Given the description of an element on the screen output the (x, y) to click on. 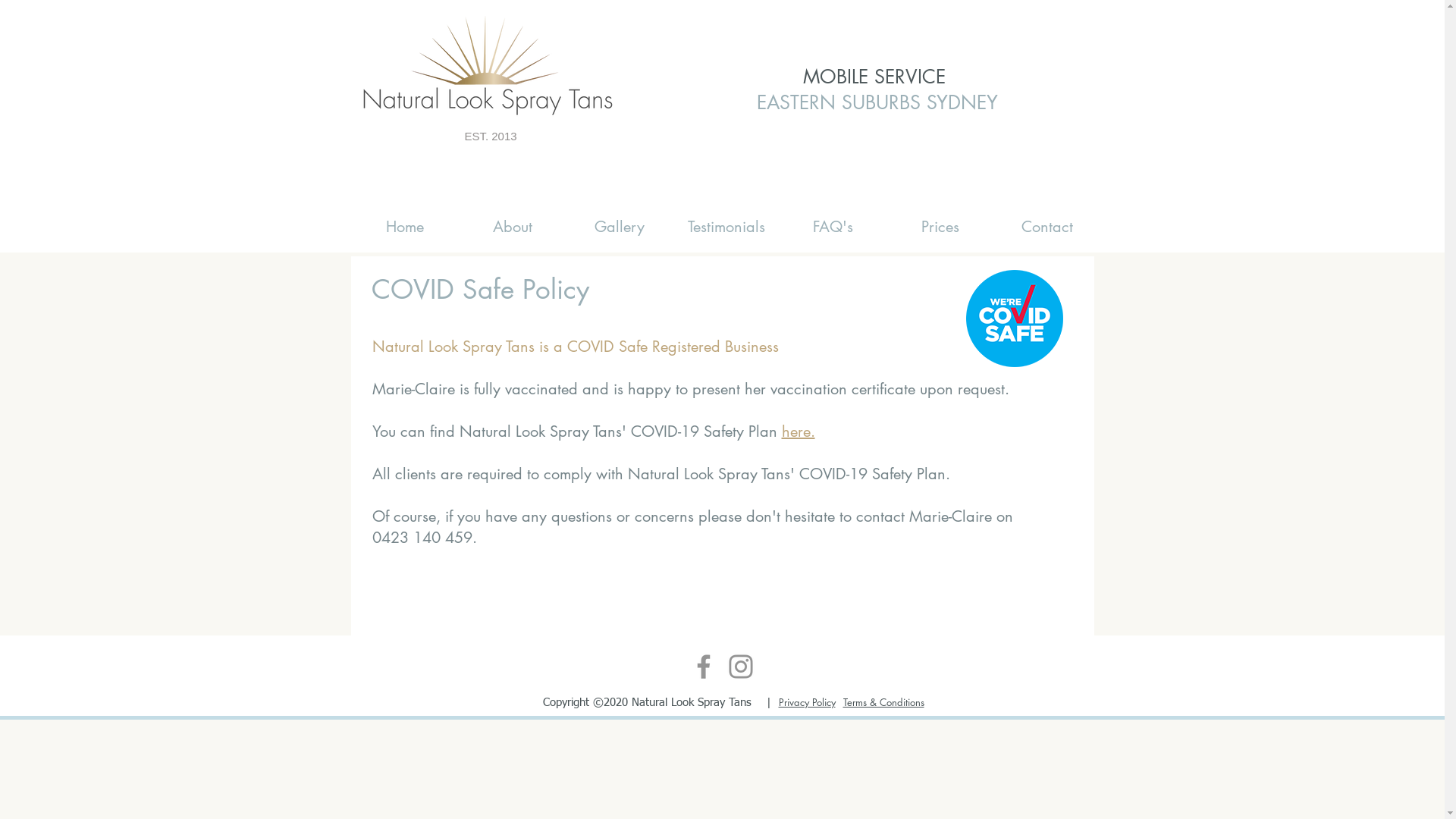
Gallery Element type: text (618, 226)
Privacy Policy Element type: text (806, 701)
Prices Element type: text (938, 226)
Terms & Conditions Element type: text (883, 702)
Home Element type: text (404, 226)
here. Element type: text (797, 431)
Testimonials Element type: text (724, 226)
About Element type: text (511, 226)
FAQ's Element type: text (832, 226)
Natural Look Spray Tans Element type: hover (488, 66)
Contact Element type: text (1046, 226)
